Given the description of an element on the screen output the (x, y) to click on. 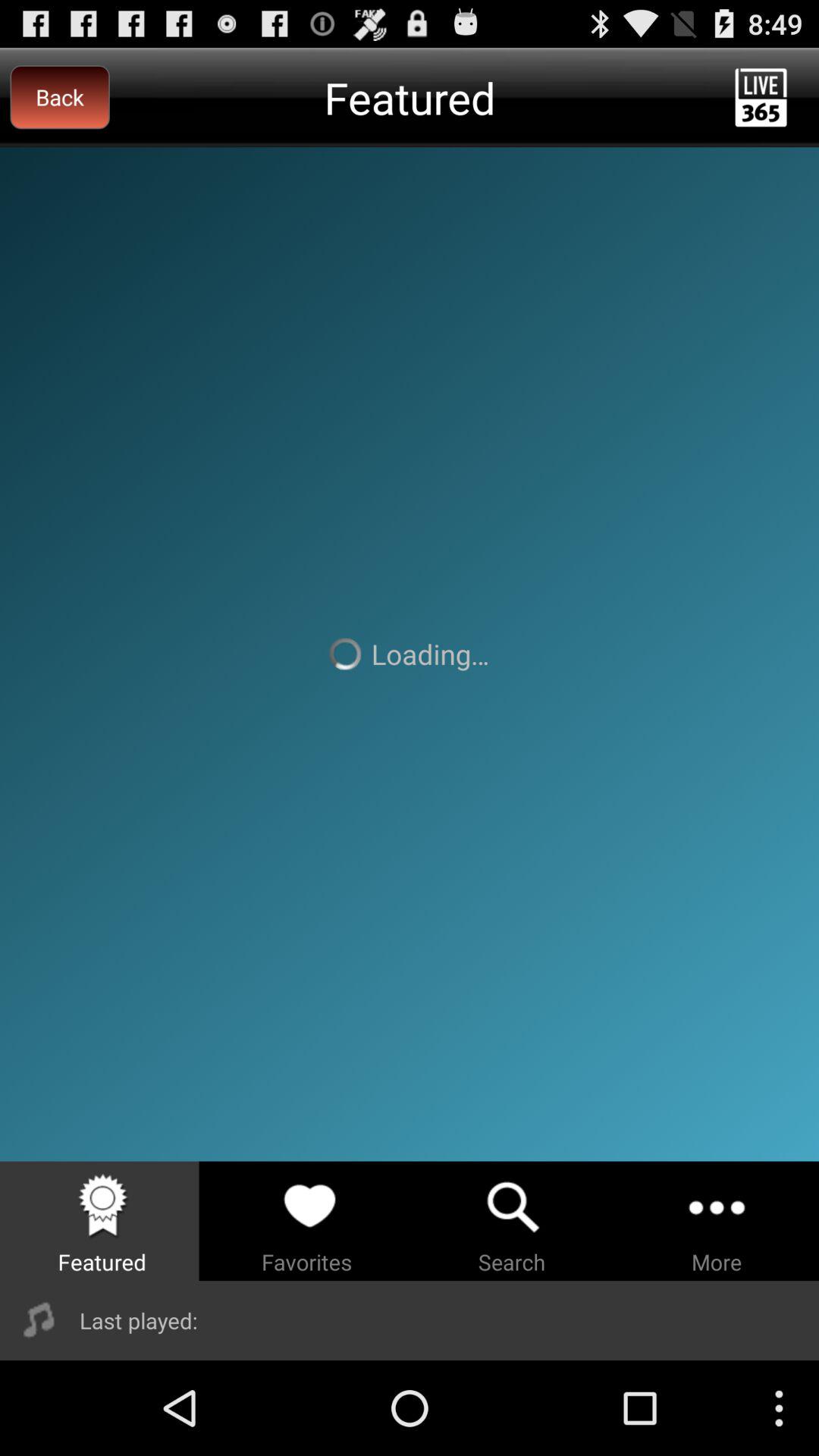
jump to back item (59, 97)
